Given the description of an element on the screen output the (x, y) to click on. 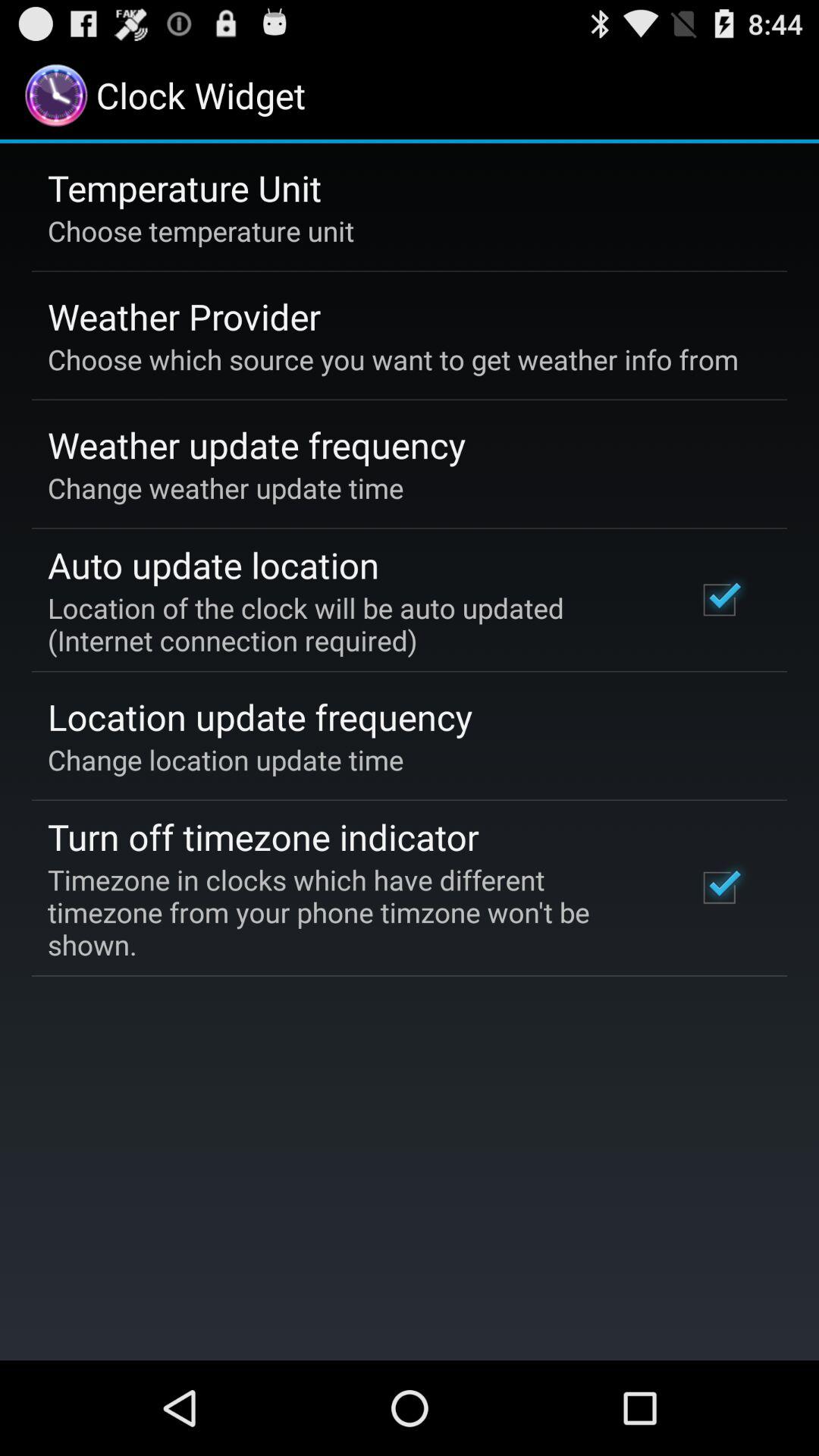
tap the app below the auto update location (351, 624)
